Given the description of an element on the screen output the (x, y) to click on. 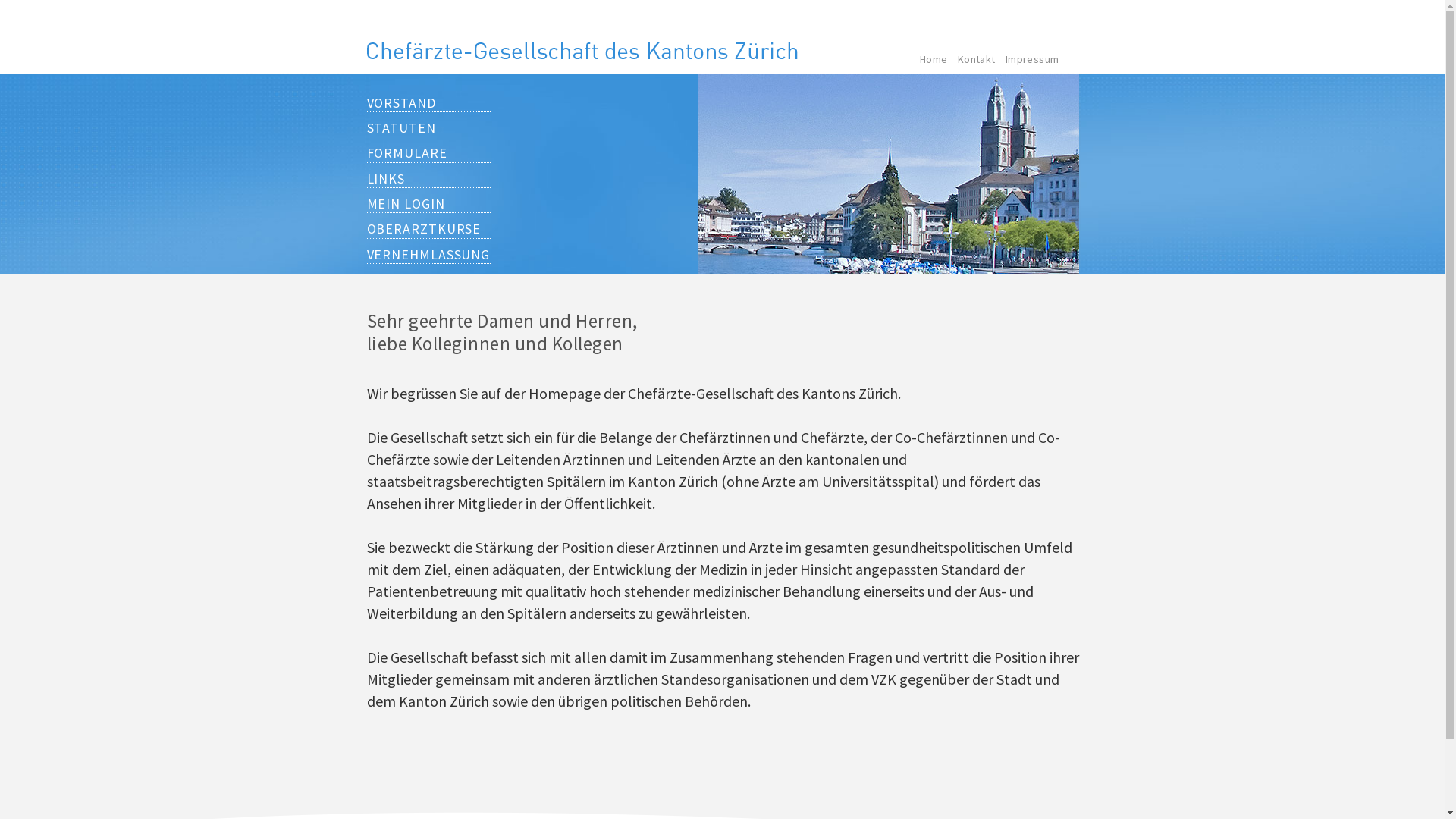
FORMULARE Element type: text (428, 152)
Home Element type: text (933, 58)
OBERARZTKURSE Element type: text (428, 228)
Impressum Element type: text (1032, 58)
Kontakt Element type: text (976, 58)
MEIN LOGIN Element type: text (428, 203)
VERNEHMLASSUNG Element type: text (428, 254)
LINKS Element type: text (428, 178)
STATUTEN Element type: text (428, 127)
VORSTAND Element type: text (428, 102)
